Given the description of an element on the screen output the (x, y) to click on. 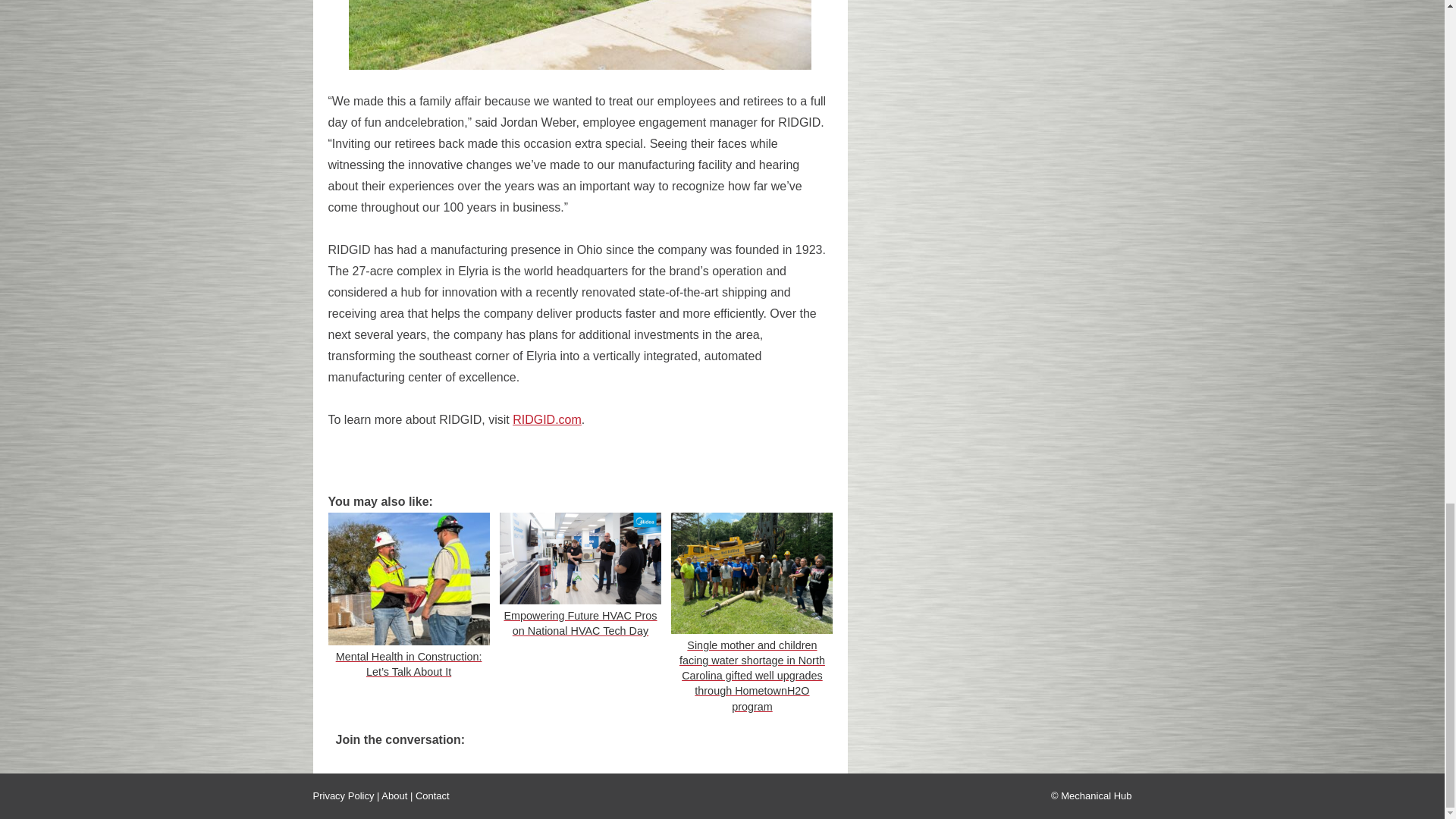
Empowering Future HVAC Pros on National HVAC Tech Day (580, 577)
RIDGID.com (546, 419)
